Given the description of an element on the screen output the (x, y) to click on. 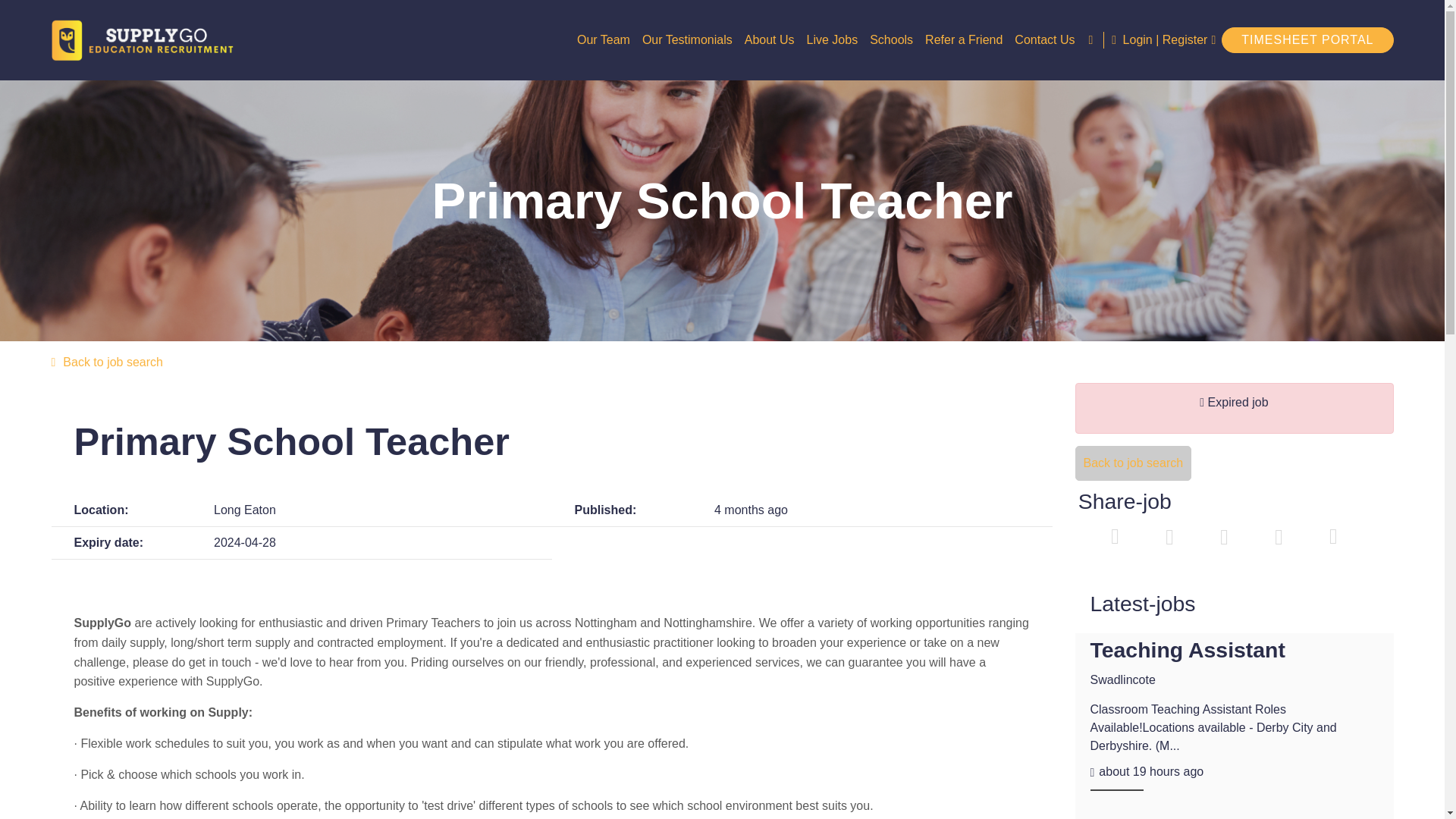
Back to job search (721, 361)
send in Whatsapp (1332, 537)
Schools (890, 39)
share on LinkedIn (1223, 537)
Back to job search (1133, 462)
Email (1278, 537)
share on Facebook (1169, 537)
Tweet this (1115, 537)
Refer a Friend (963, 39)
TIMESHEET PORTAL (1307, 40)
Live Jobs (832, 39)
About Us (769, 39)
Our Team (603, 39)
Contact Us (1044, 39)
Our Testimonials (687, 39)
